Given the description of an element on the screen output the (x, y) to click on. 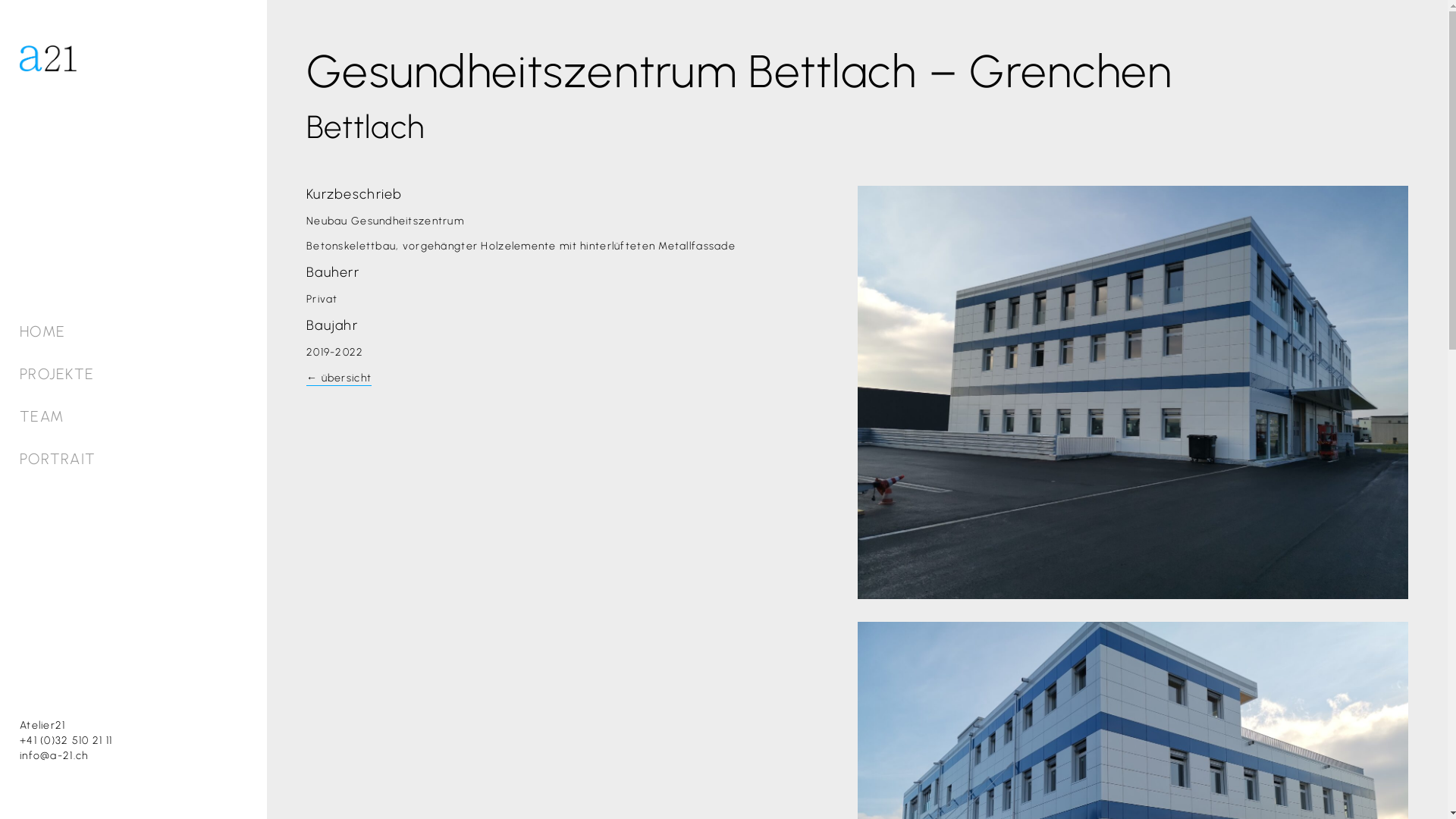
TEAM Element type: text (41, 415)
PROJEKTE Element type: text (56, 372)
PORTRAIT Element type: text (57, 457)
HOME Element type: text (42, 330)
